Given the description of an element on the screen output the (x, y) to click on. 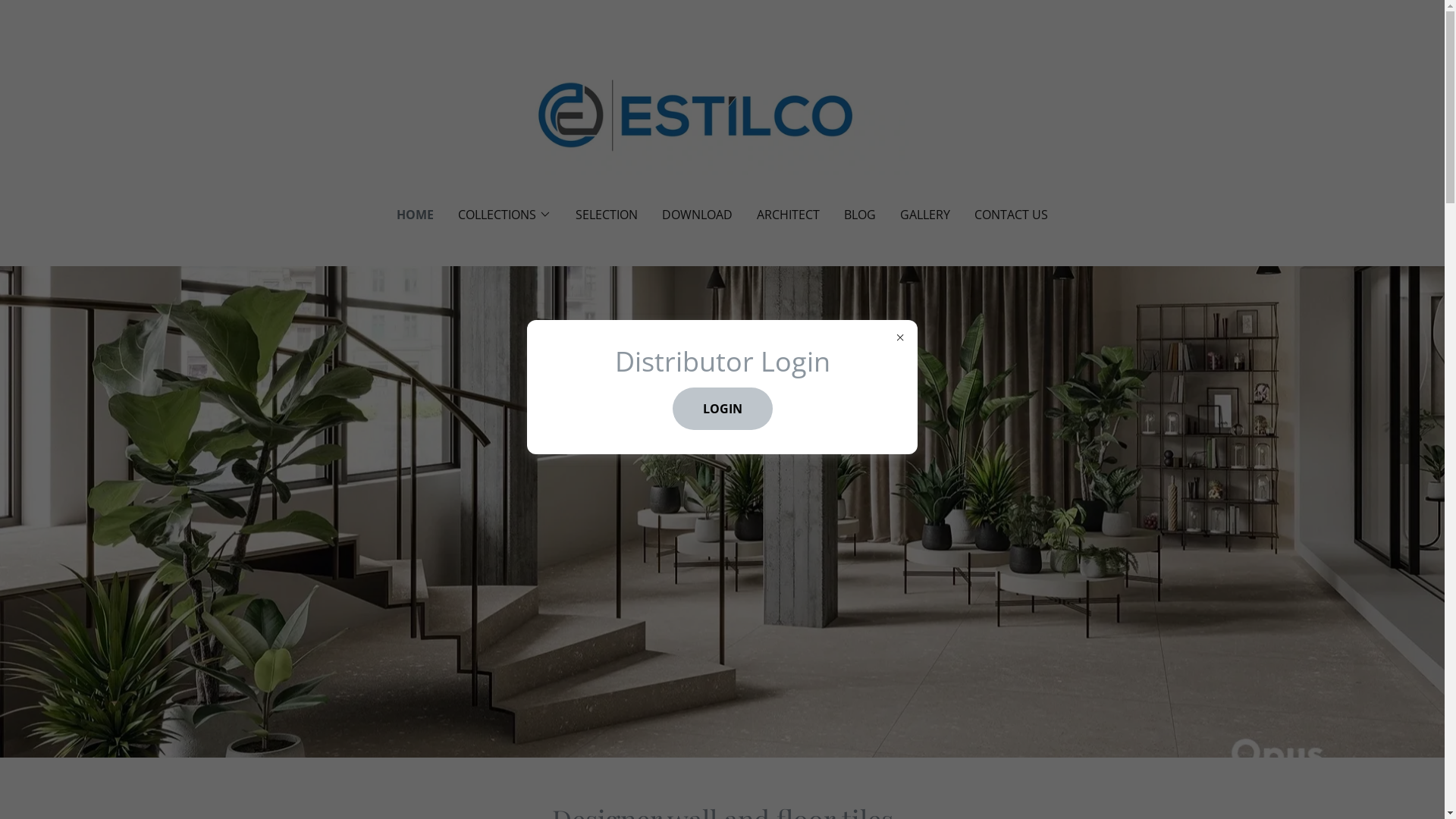
ARCHITECT Element type: text (788, 214)
DOWNLOAD Element type: text (697, 214)
Estilco Ceramics Element type: hover (722, 112)
BLOG Element type: text (859, 214)
HOME Element type: text (414, 214)
GALLERY Element type: text (924, 214)
LOGIN Element type: text (721, 407)
CONTACT US Element type: text (1010, 214)
SELECTION Element type: text (606, 214)
COLLECTIONS Element type: text (504, 214)
